Given the description of an element on the screen output the (x, y) to click on. 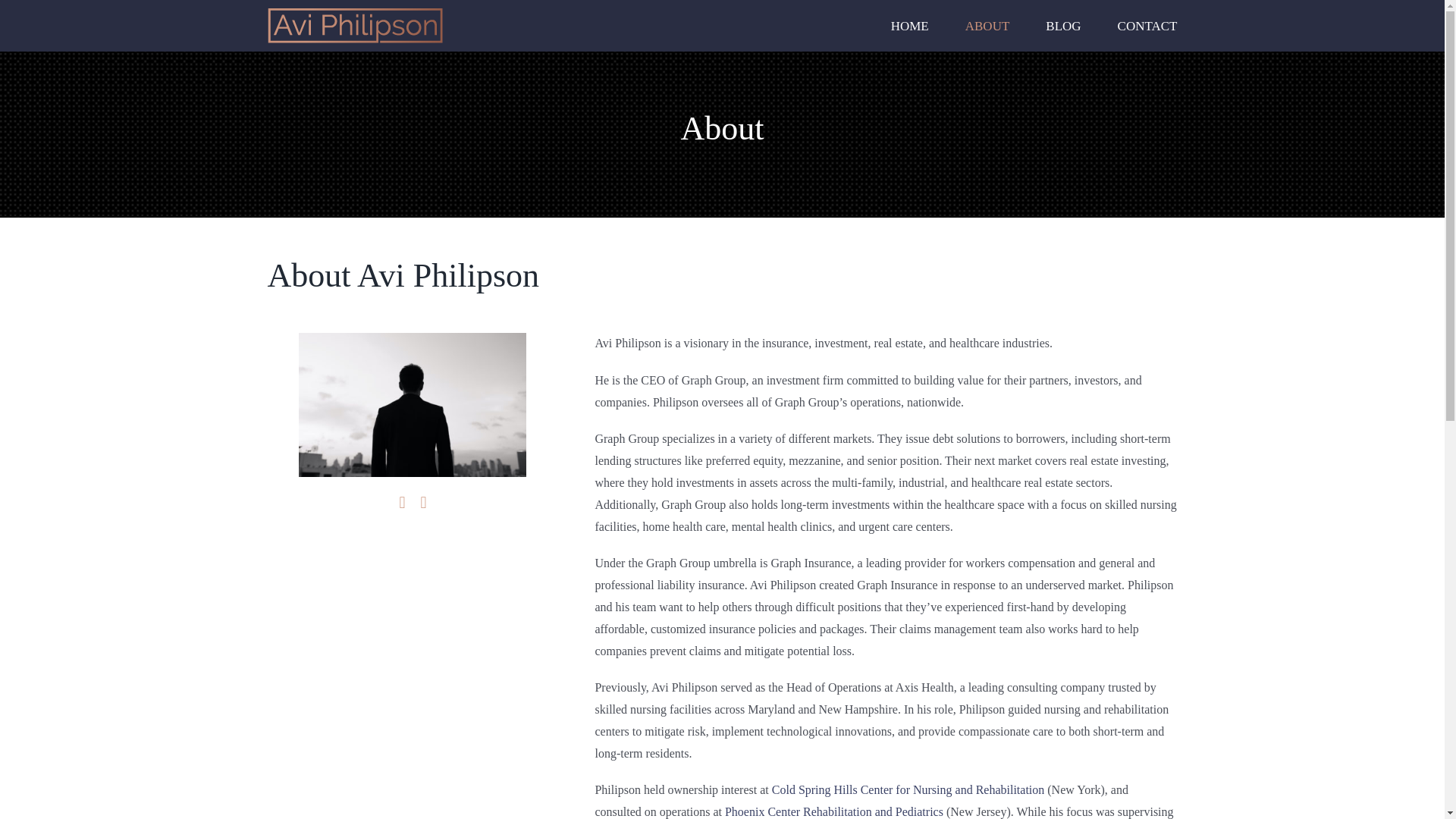
Cold Spring Hills Center for Nursing and Rehabilitation (908, 789)
avi-philipson-headshot (411, 404)
CONTACT (1147, 25)
Phoenix Center Rehabilitation and Pediatrics (834, 811)
